Given the description of an element on the screen output the (x, y) to click on. 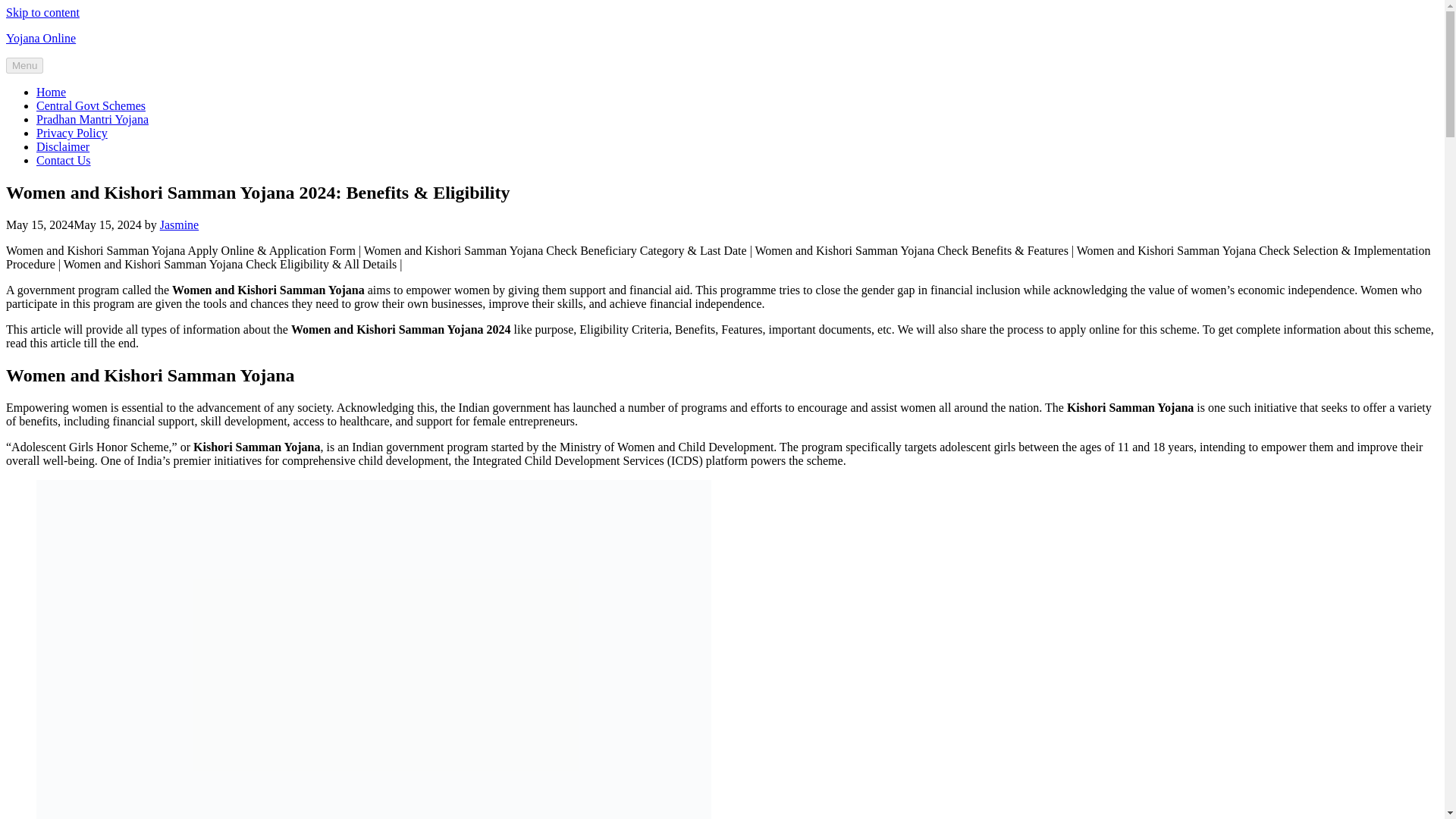
Pradhan Mantri Yojana (92, 119)
Contact Us (63, 160)
Skip to content (42, 11)
Central Govt Schemes (90, 105)
Home (50, 91)
Privacy Policy (71, 132)
Jasmine (179, 224)
Skip to content (42, 11)
Menu (24, 65)
Yojana Online (40, 38)
Disclaimer (62, 146)
View all posts by Jasmine (179, 224)
